Given the description of an element on the screen output the (x, y) to click on. 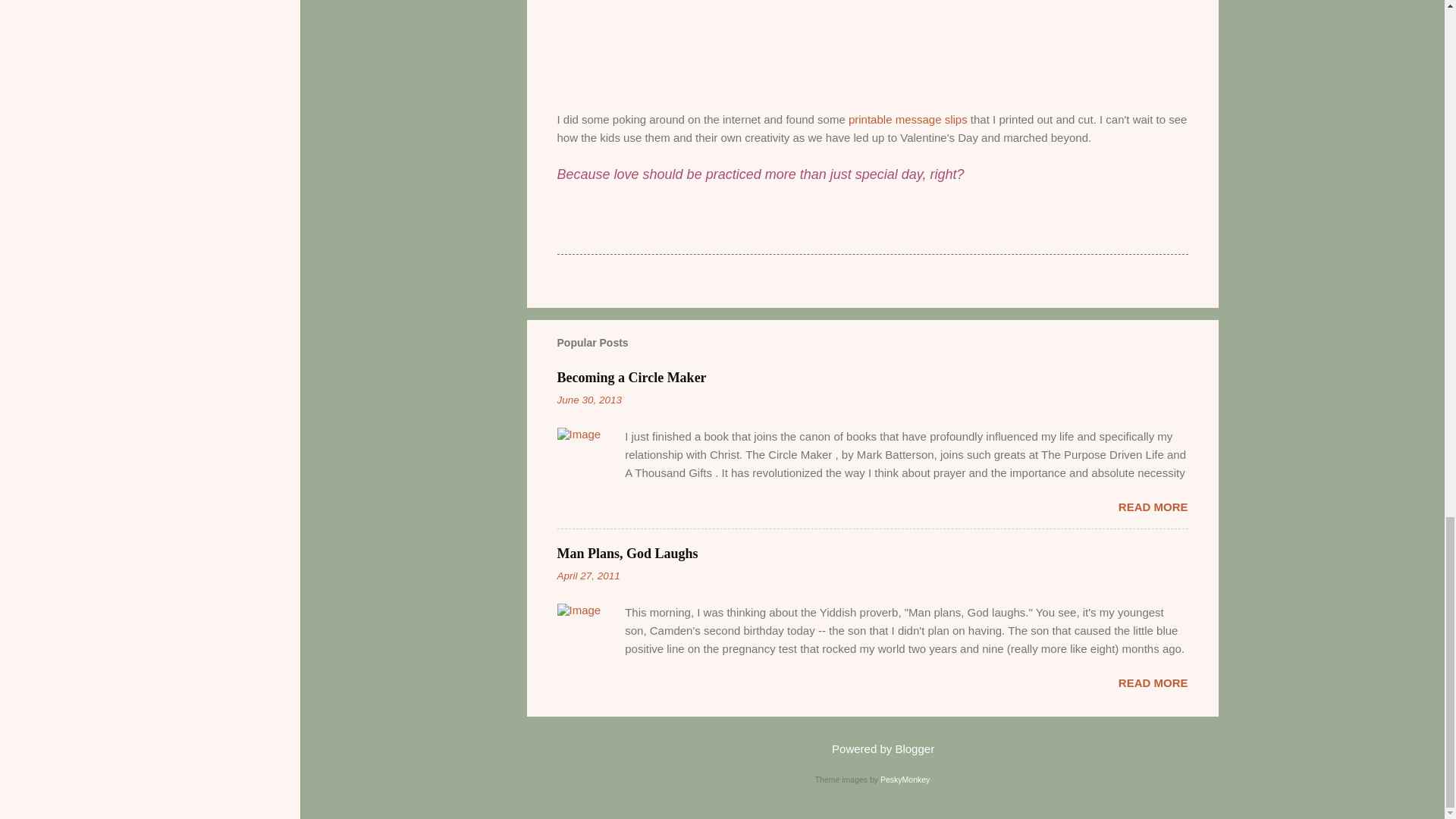
Email Post (595, 226)
permanent link (588, 399)
PeskyMonkey (905, 778)
April 27, 2011 (588, 575)
READ MORE (1153, 682)
June 30, 2013 (588, 399)
READ MORE (1153, 506)
Becoming a Circle Maker (631, 377)
printable message slips (908, 119)
Man Plans, God Laughs (626, 553)
Powered by Blogger (872, 748)
